Given the description of an element on the screen output the (x, y) to click on. 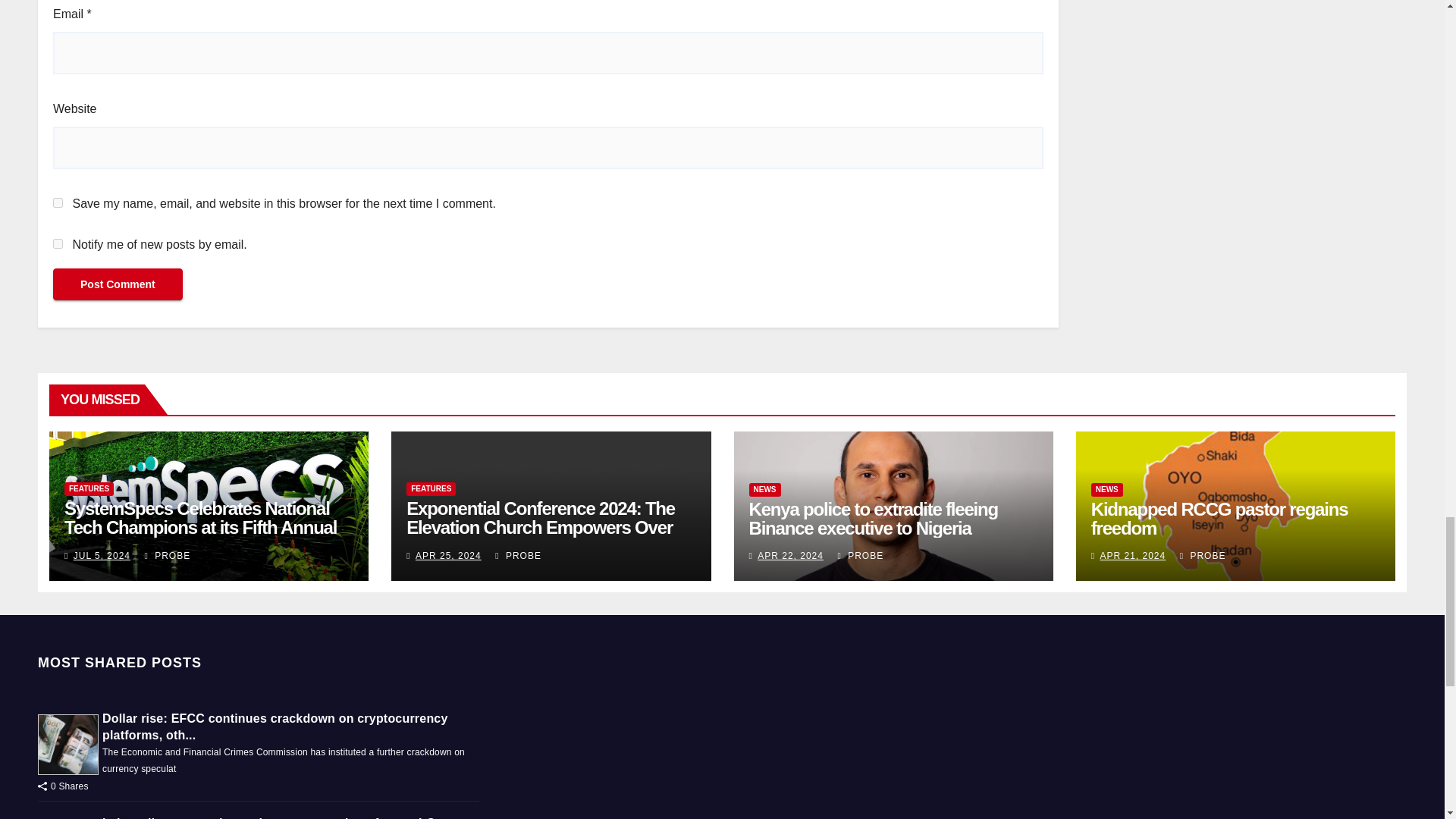
Post Comment (117, 284)
subscribe (57, 243)
yes (57, 203)
